Given the description of an element on the screen output the (x, y) to click on. 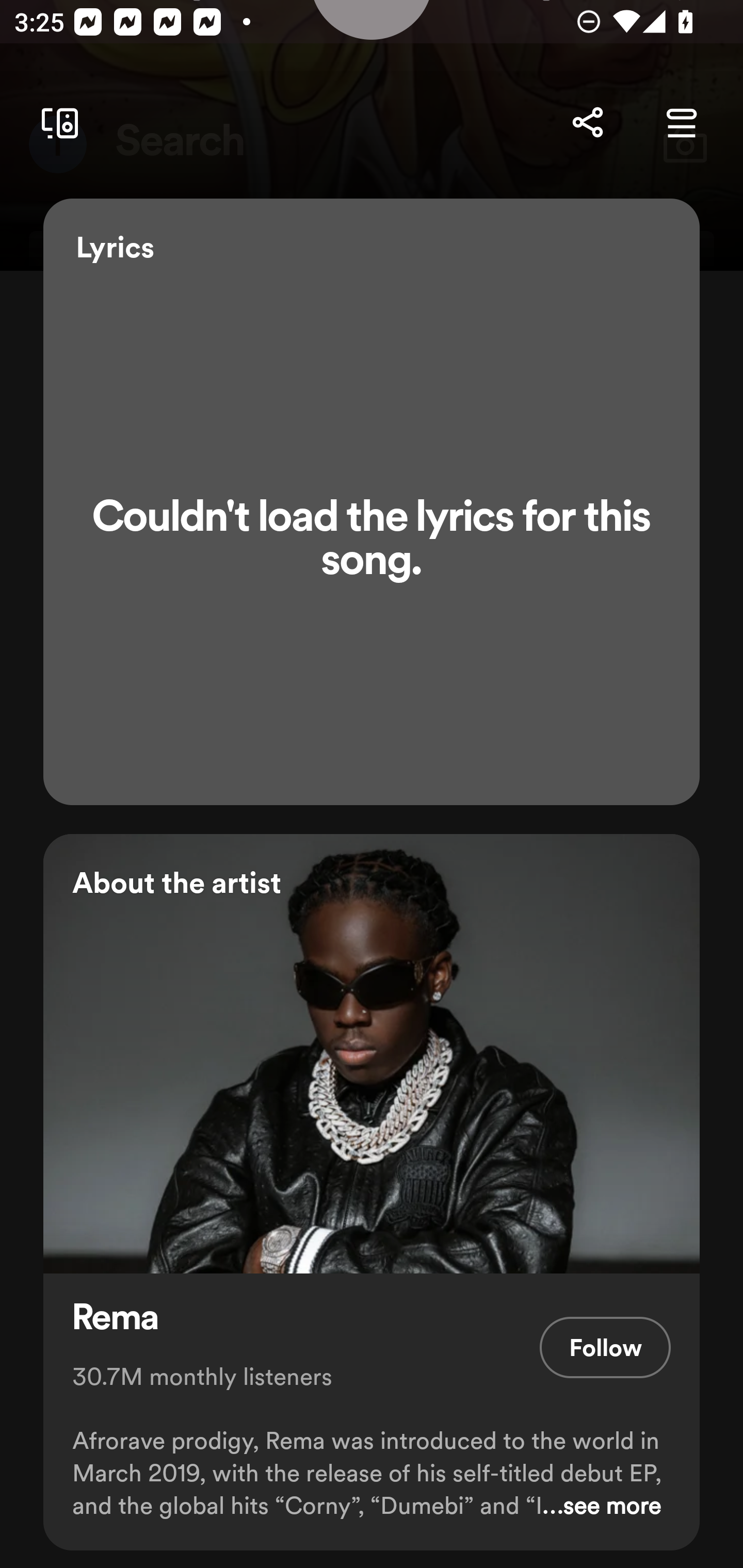
Share (587, 122)
Go to Queue (681, 122)
Connect to a device. Opens the devices menu (55, 122)
Follow Follow this Artist (604, 1347)
